Given the description of an element on the screen output the (x, y) to click on. 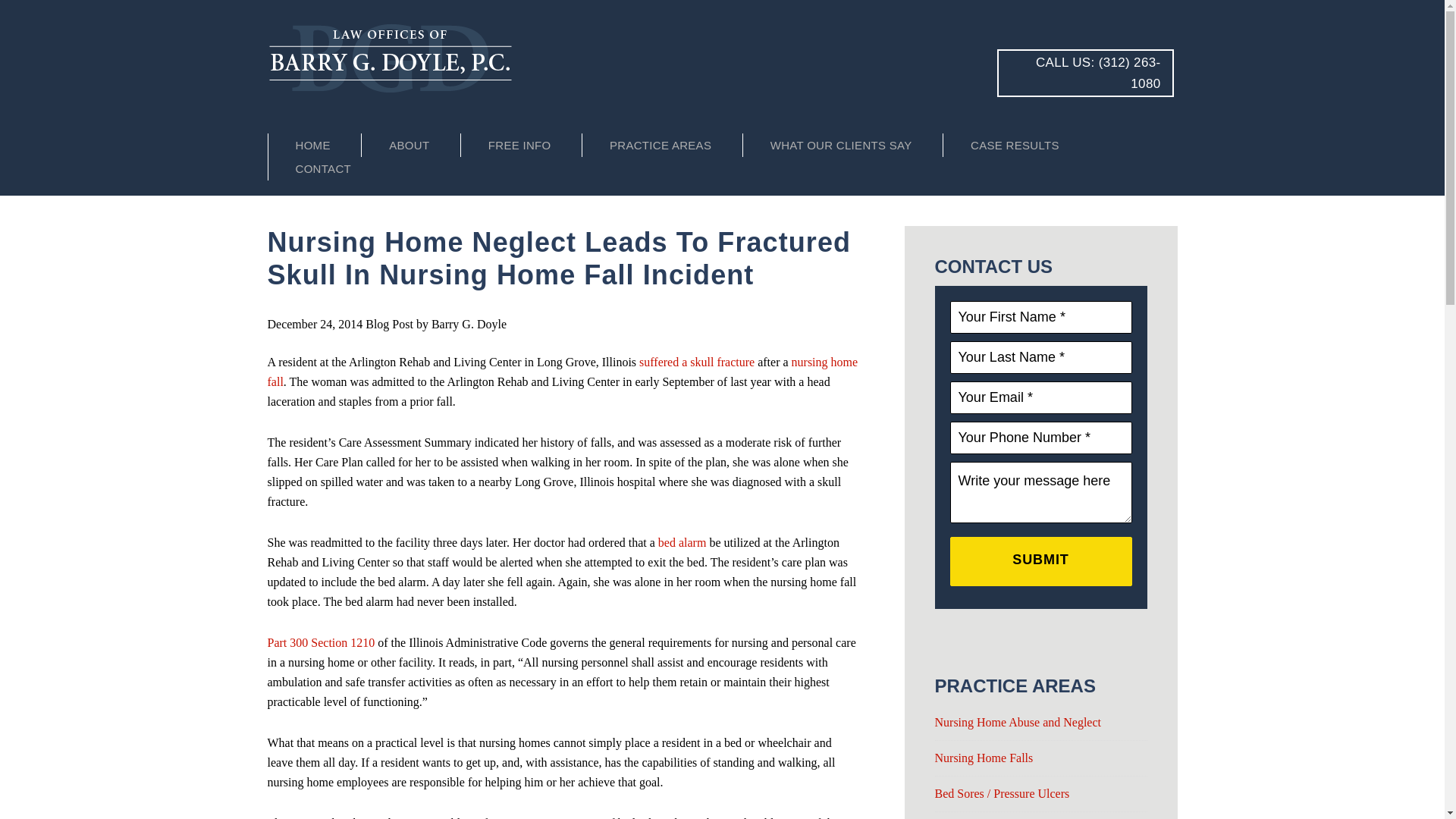
suffered a skull fracture (696, 361)
HOME (312, 145)
Nursing Home Abuse and Neglect (1017, 721)
Part 300 Section 1210 (320, 642)
nursing home fall (561, 371)
Nursing Home Falls (983, 757)
SUBMIT (1040, 561)
CASE RESULTS (1014, 145)
PRACTICE AREAS (660, 145)
WHAT OUR CLIENTS SAY (840, 145)
CONTACT (322, 168)
bed alarm (682, 542)
ABOUT (409, 145)
FREE INFO (519, 145)
The Law Offices of Barry G. Doyle, P.C. (403, 57)
